Given the description of an element on the screen output the (x, y) to click on. 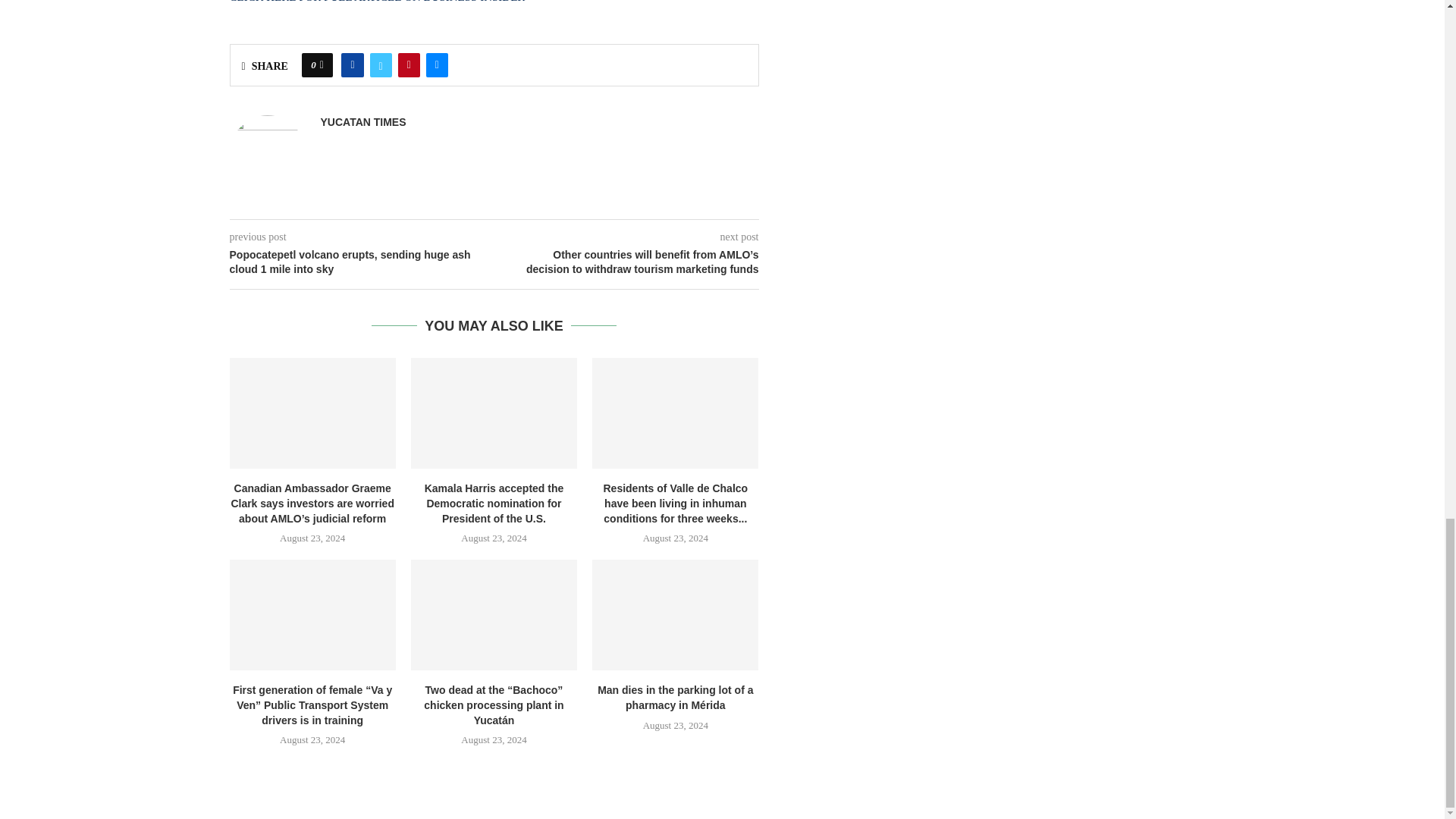
Author Yucatan Times (363, 122)
